Given the description of an element on the screen output the (x, y) to click on. 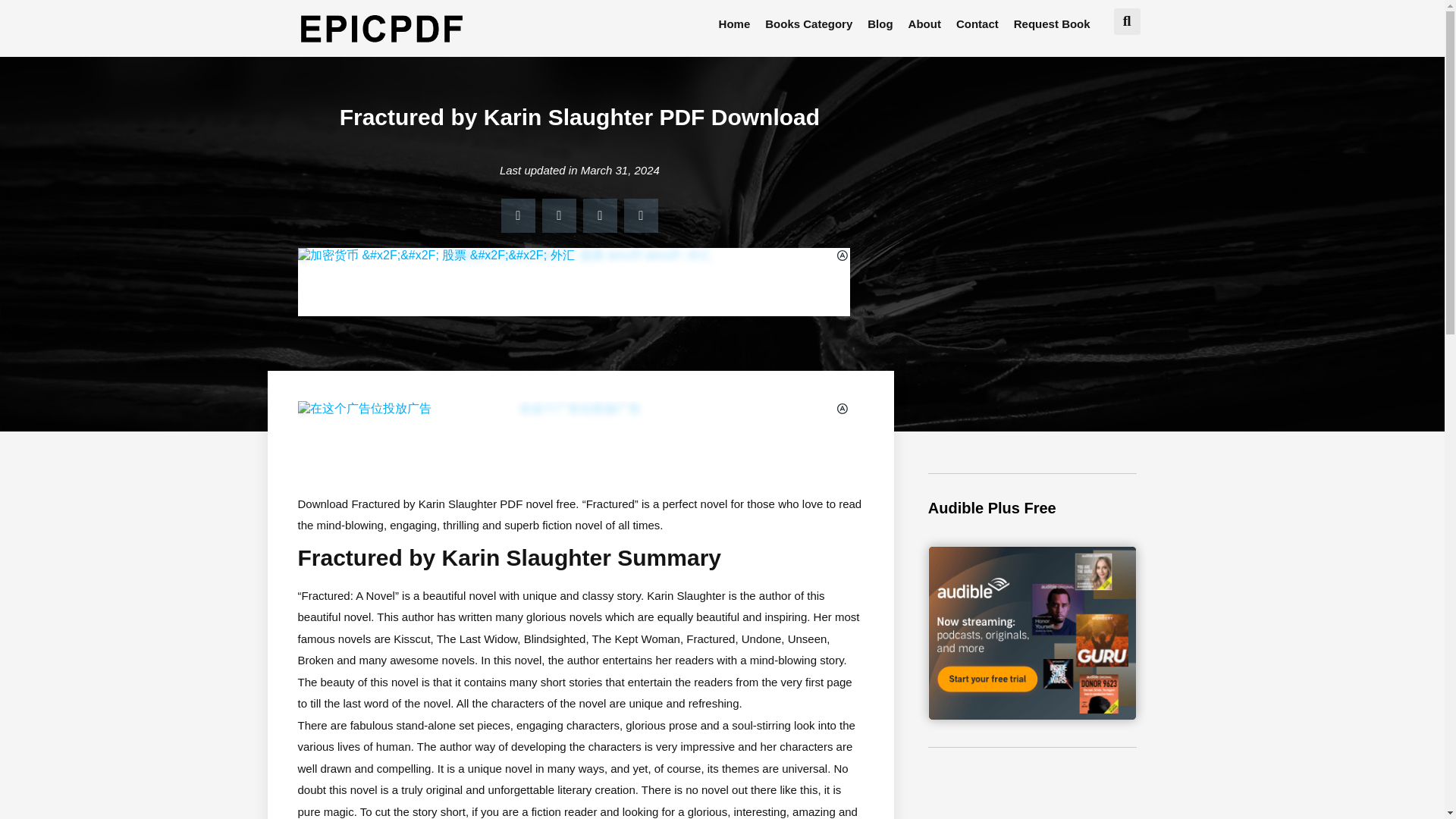
Books Category (808, 23)
About (925, 23)
Blog (879, 23)
Home (734, 23)
Request Book (1051, 23)
Contact (977, 23)
